Given the description of an element on the screen output the (x, y) to click on. 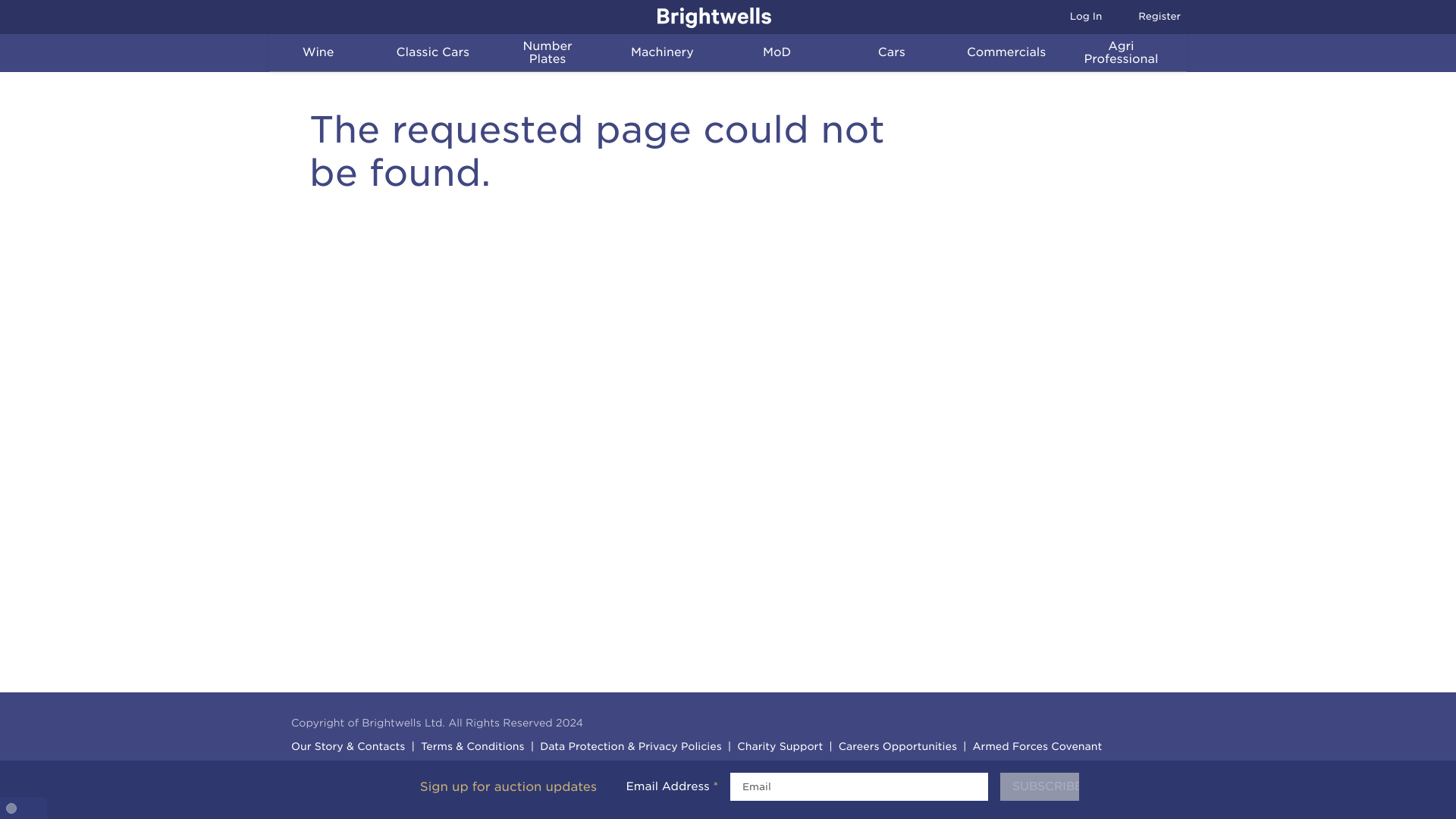
Toggle next nav section (484, 52)
login icon (1058, 16)
Careers Opportunities (895, 748)
Armed Forces Covenant (440, 53)
Toggle next nav section (326, 53)
Log In (1035, 748)
Charity Support (369, 52)
Register (1076, 17)
register icon (778, 748)
Subscribe (1141, 17)
mailing list icon (1126, 16)
close icon (1039, 786)
